Given the description of an element on the screen output the (x, y) to click on. 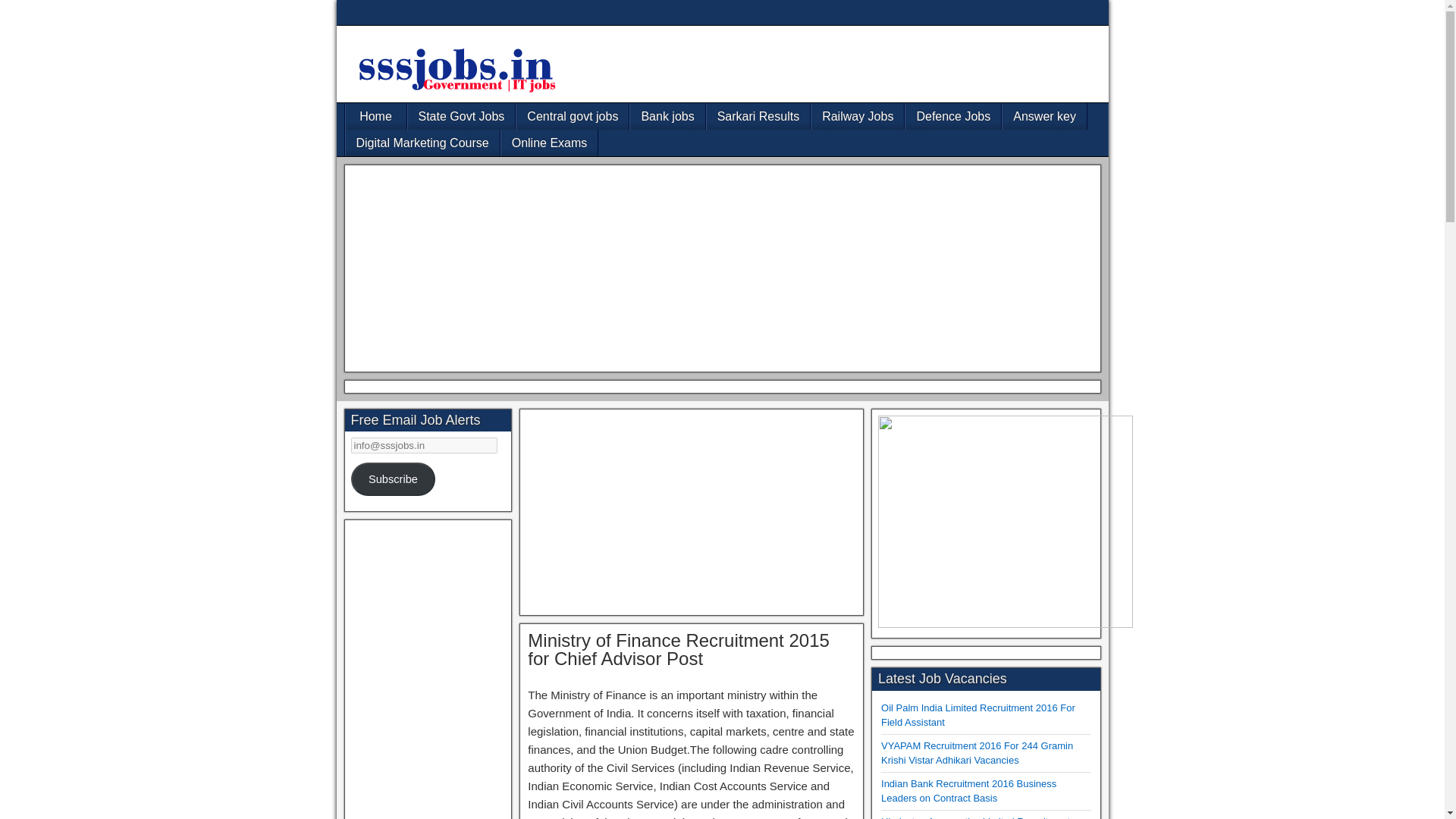
Central govt jobs (572, 116)
Digital Marketing Course (422, 142)
Bank jobs (667, 116)
Railway Jobs (857, 116)
Defence Jobs (953, 116)
Ministry of Finance Recruitment 2015 for Chief Advisor Post (678, 649)
Online Exams (549, 142)
State Govt Jobs (461, 116)
Home (376, 116)
Subscribe (392, 479)
Answer key (1044, 116)
Sarkari Results (757, 116)
